Given the description of an element on the screen output the (x, y) to click on. 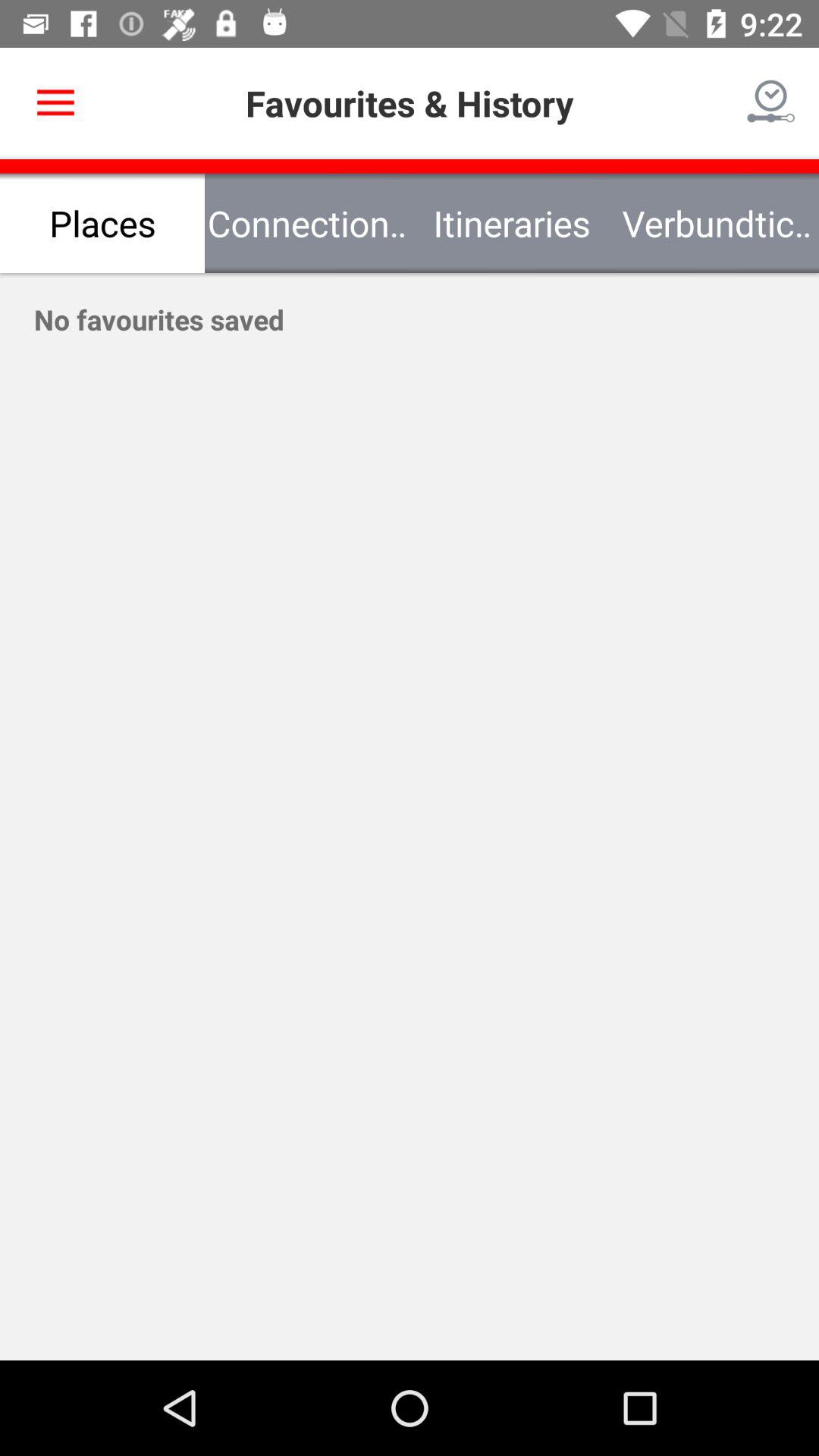
choose icon to the left of connection requests (55, 103)
